Given the description of an element on the screen output the (x, y) to click on. 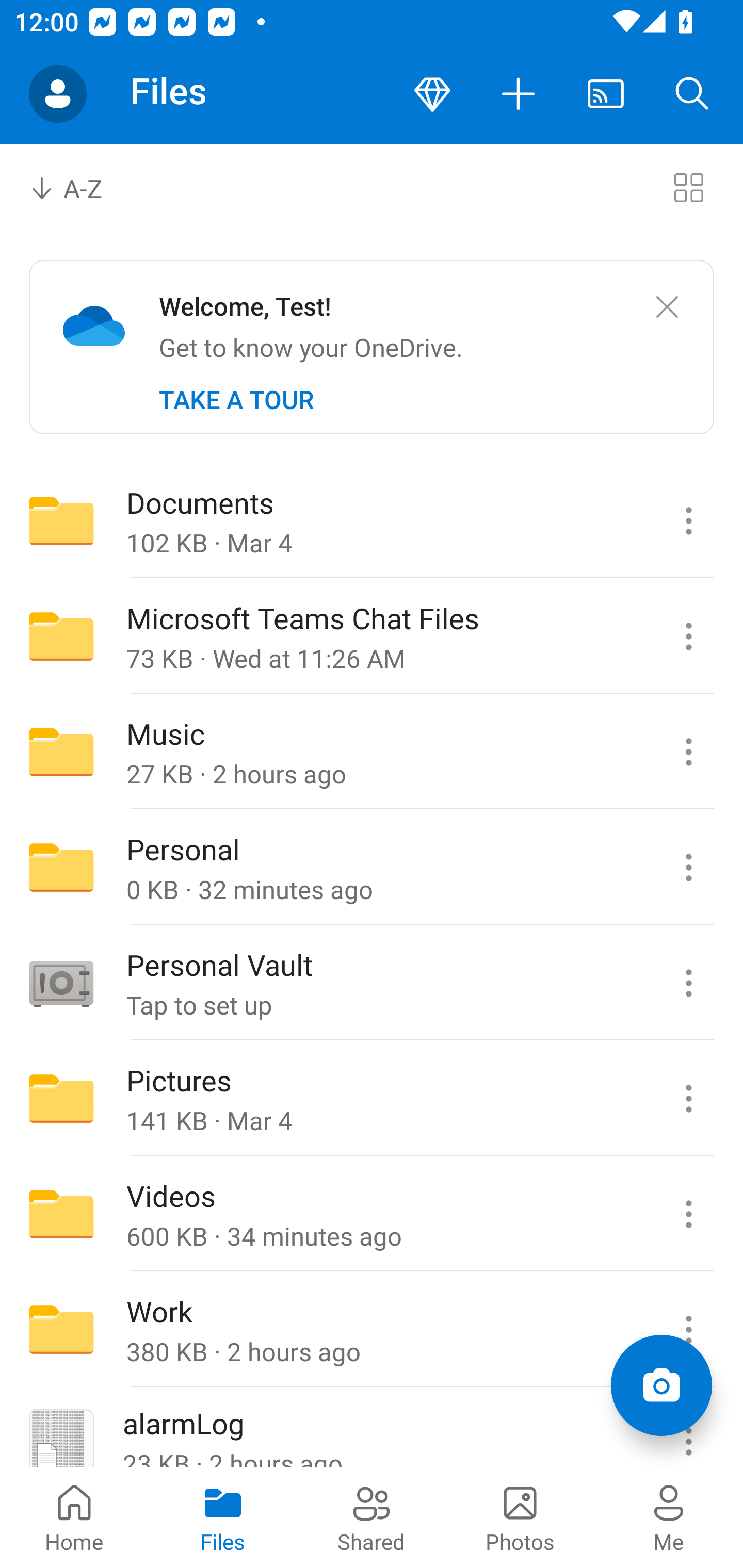
Account switcher (57, 93)
Cast. Disconnected (605, 93)
Premium button (432, 93)
More actions button (518, 93)
Search button (692, 93)
A-Z Sort by combo box, sort by name, A to Z (80, 187)
Switch to tiles view (688, 187)
Close (667, 307)
TAKE A TOUR (236, 399)
Folder Documents 102 KB · Mar 4 Documents commands (371, 520)
Documents commands (688, 520)
Microsoft Teams Chat Files commands (688, 636)
Folder Music 27 KB · 2 hours ago Music commands (371, 751)
Music commands (688, 751)
Personal commands (688, 867)
Personal Vault commands (688, 983)
Folder Pictures 141 KB · Mar 4 Pictures commands (371, 1099)
Pictures commands (688, 1099)
Videos commands (688, 1214)
Folder Work 380 KB · 2 hours ago Work commands (371, 1329)
Work commands (688, 1329)
Add items Scan (660, 1385)
alarmLog commands (688, 1427)
Home pivot Home (74, 1517)
Shared pivot Shared (371, 1517)
Photos pivot Photos (519, 1517)
Me pivot Me (668, 1517)
